Given the description of an element on the screen output the (x, y) to click on. 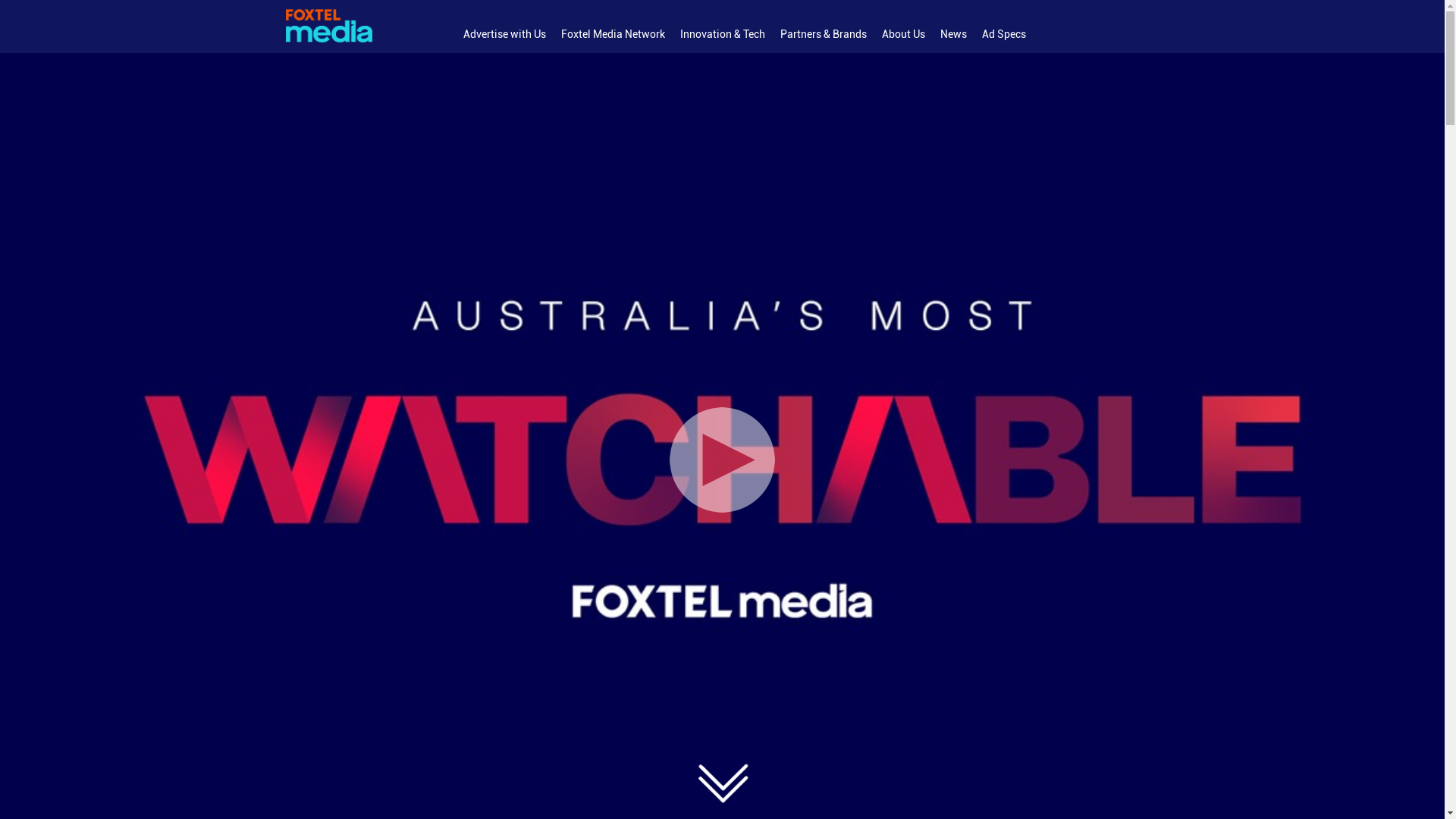
Advertise with Us Element type: text (503, 34)
News Element type: text (953, 34)
Partners & Brands Element type: text (822, 34)
Innovation & Tech Element type: text (721, 34)
Foxtel Media Network Element type: text (612, 34)
About Us Element type: text (902, 34)
Ad Specs Element type: text (1002, 34)
